Given the description of an element on the screen output the (x, y) to click on. 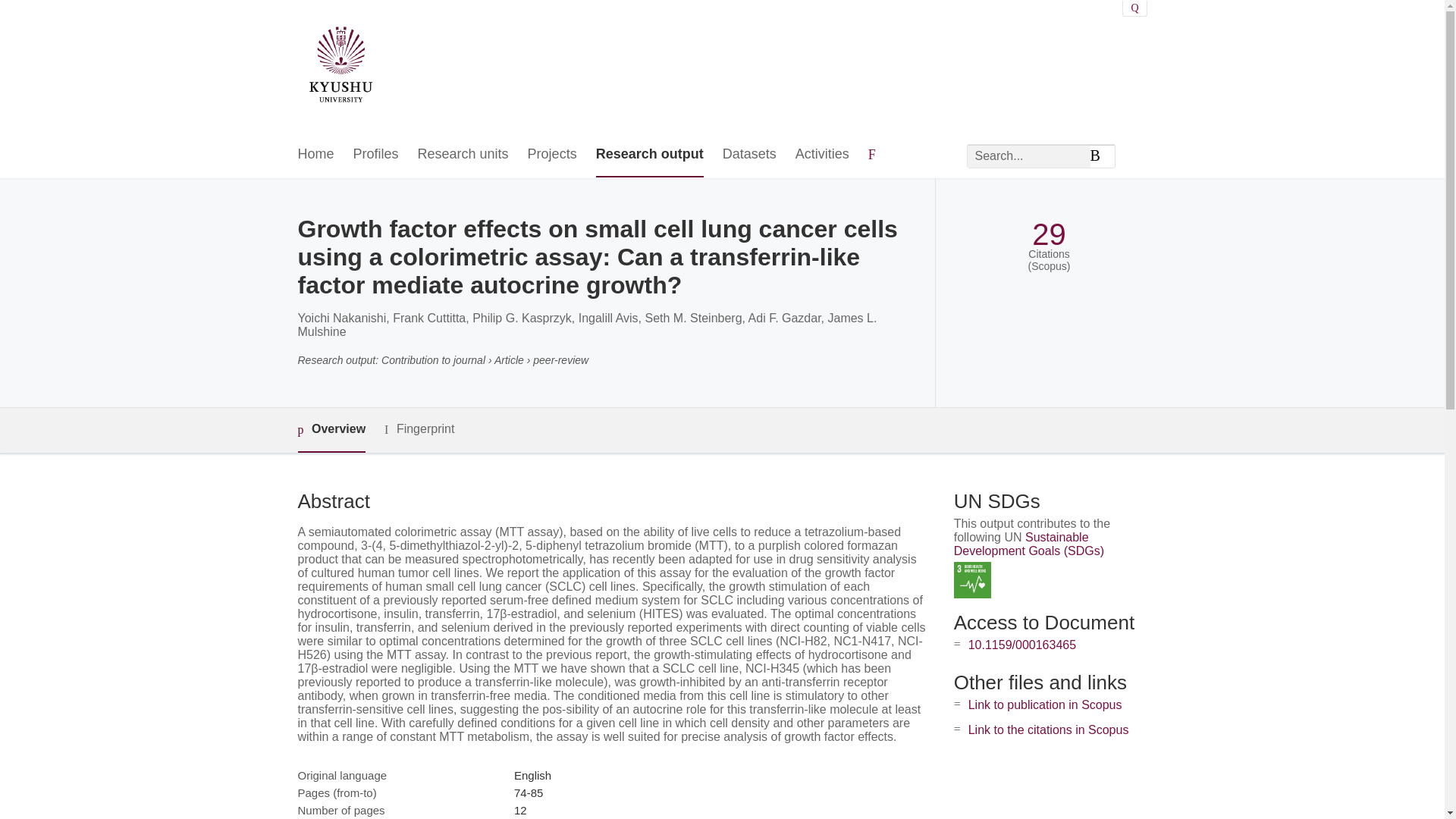
Link to the citations in Scopus (1048, 729)
SDG 3 - Good Health and Well-being (972, 579)
Research units (462, 154)
29 (1048, 234)
Profiles (375, 154)
Datasets (749, 154)
Overview (331, 429)
Activities (821, 154)
Fingerprint (419, 429)
Projects (551, 154)
Research output (649, 154)
Link to publication in Scopus (1045, 704)
